Given the description of an element on the screen output the (x, y) to click on. 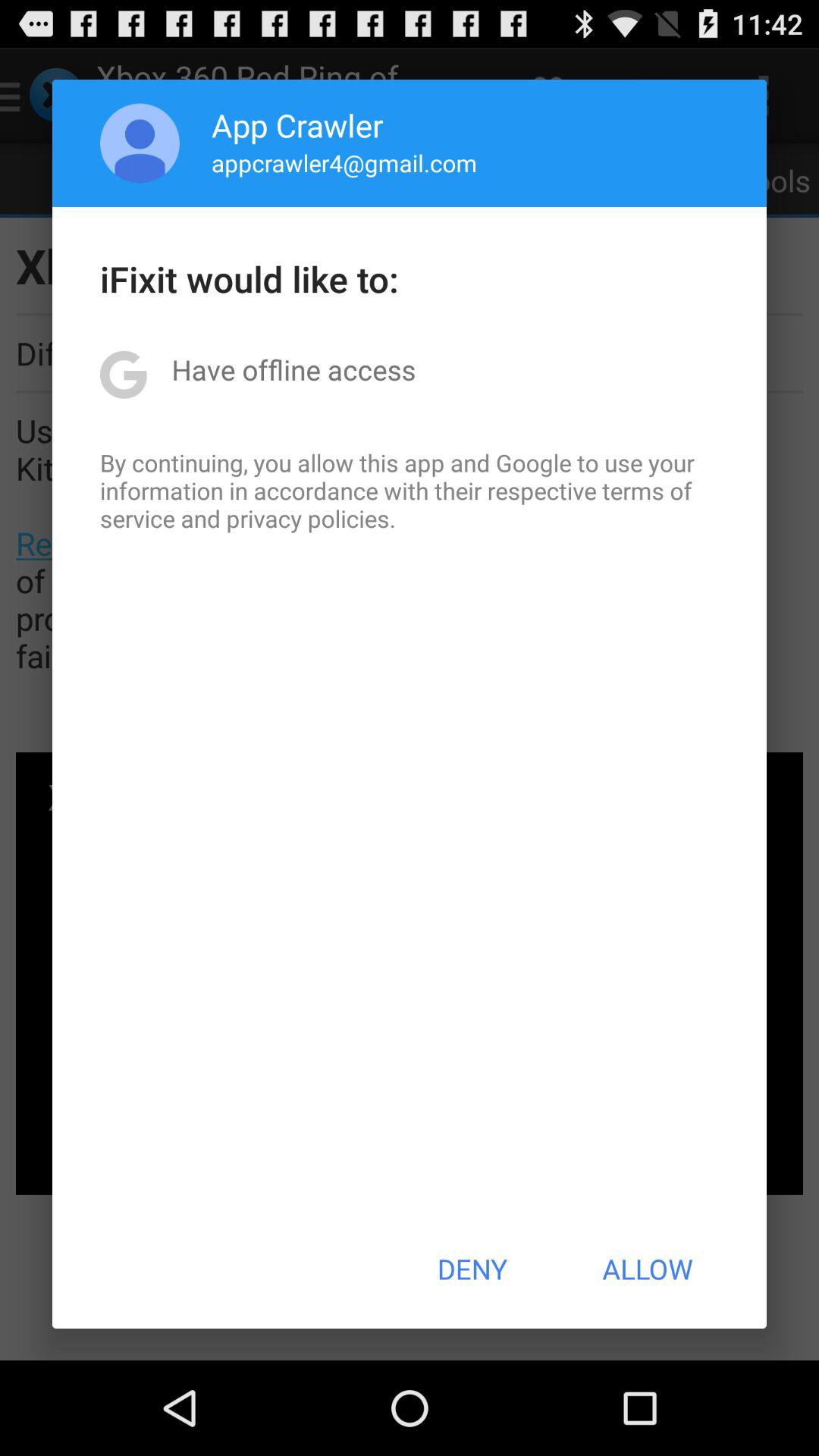
tap item next to the allow item (471, 1268)
